Given the description of an element on the screen output the (x, y) to click on. 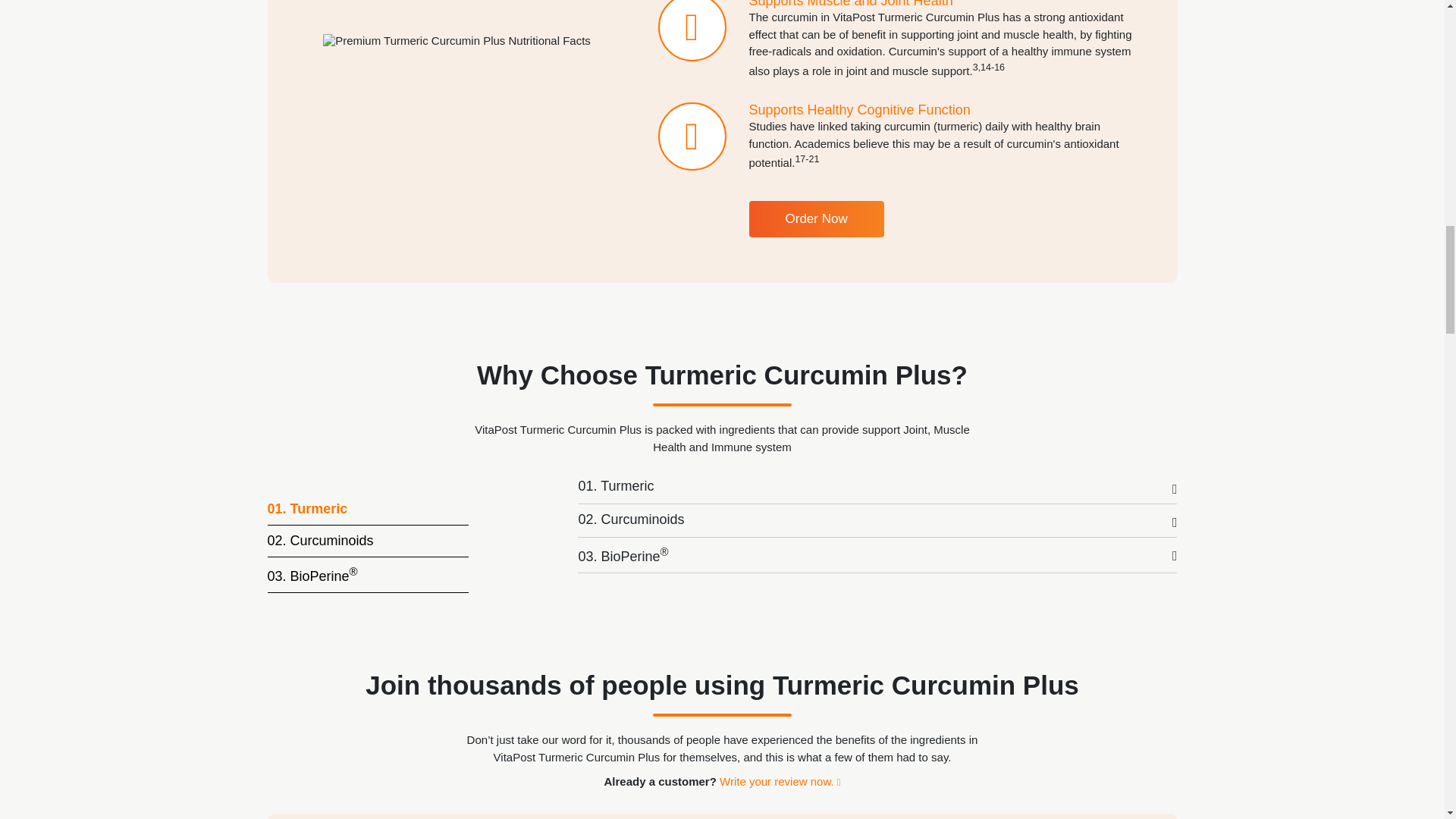
Order Now (816, 218)
